Given the description of an element on the screen output the (x, y) to click on. 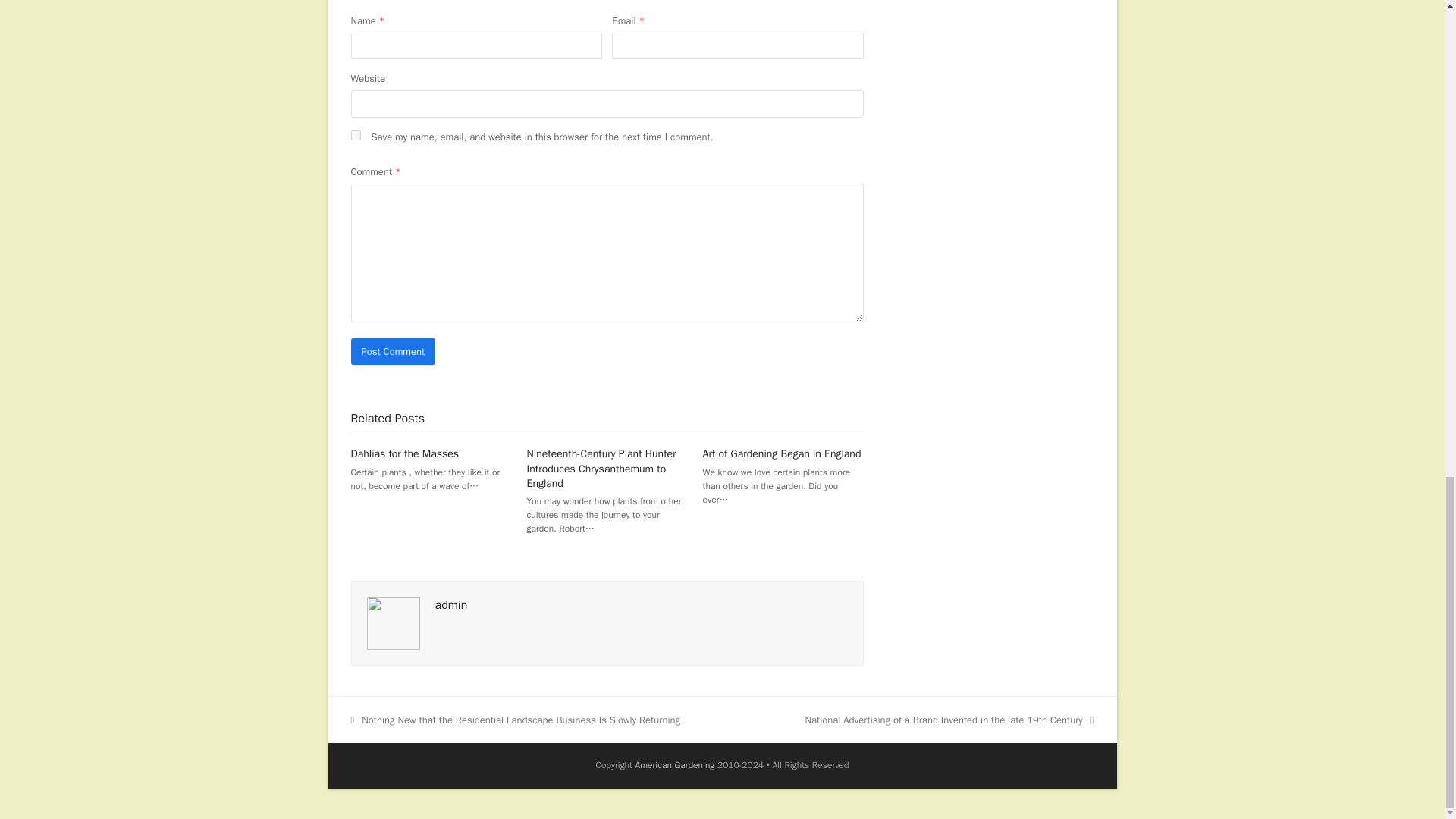
yes (354, 135)
admin (451, 604)
Visit Author Page (451, 604)
Art of Gardening Began in England (782, 453)
Visit Author Page (393, 621)
Post Comment (392, 351)
Dahlias for the Masses (404, 453)
American Gardening (674, 765)
Post Comment (392, 351)
